Given the description of an element on the screen output the (x, y) to click on. 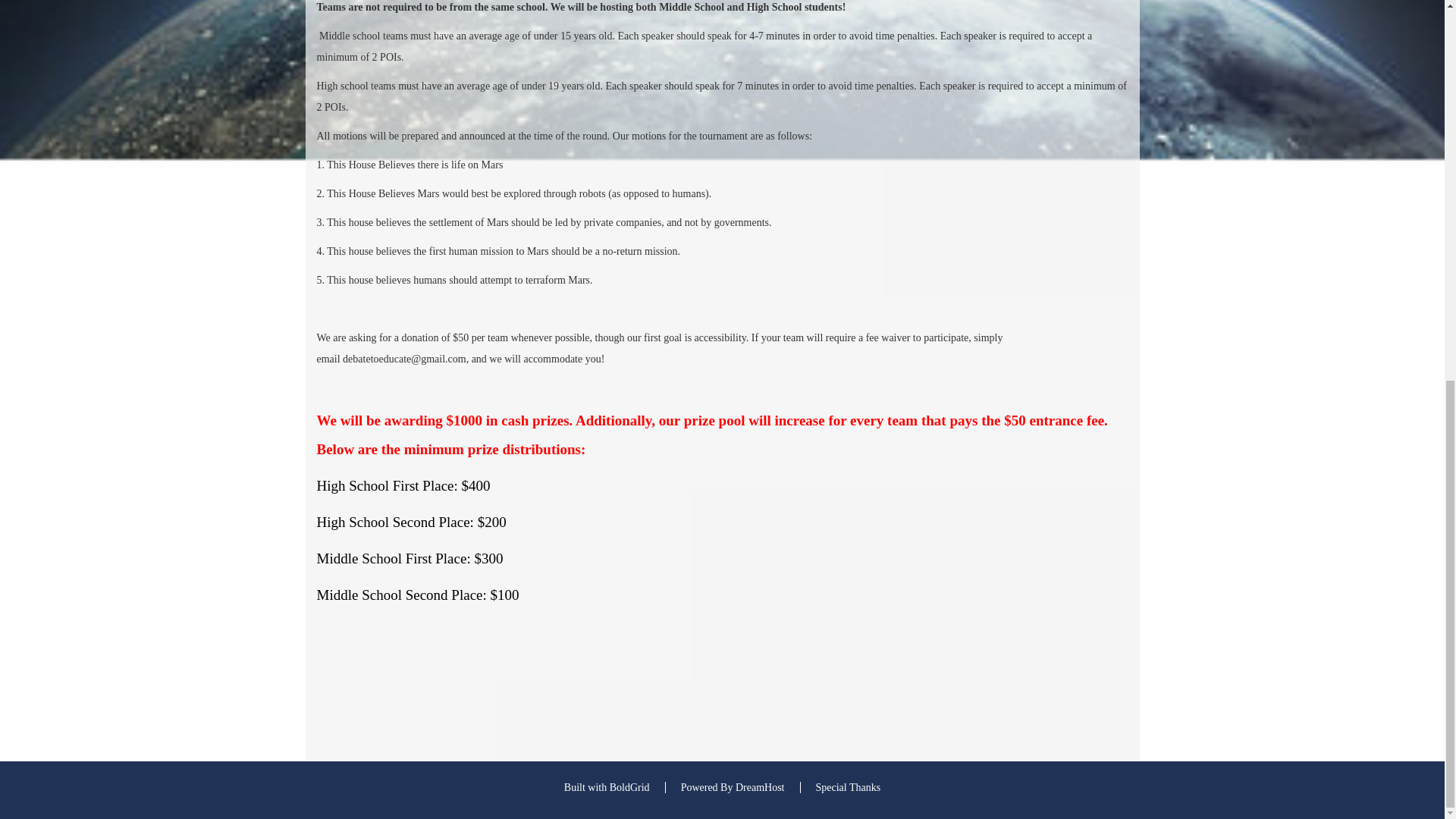
DreamHost (759, 787)
Special Thanks (847, 787)
BoldGrid (629, 787)
